Given the description of an element on the screen output the (x, y) to click on. 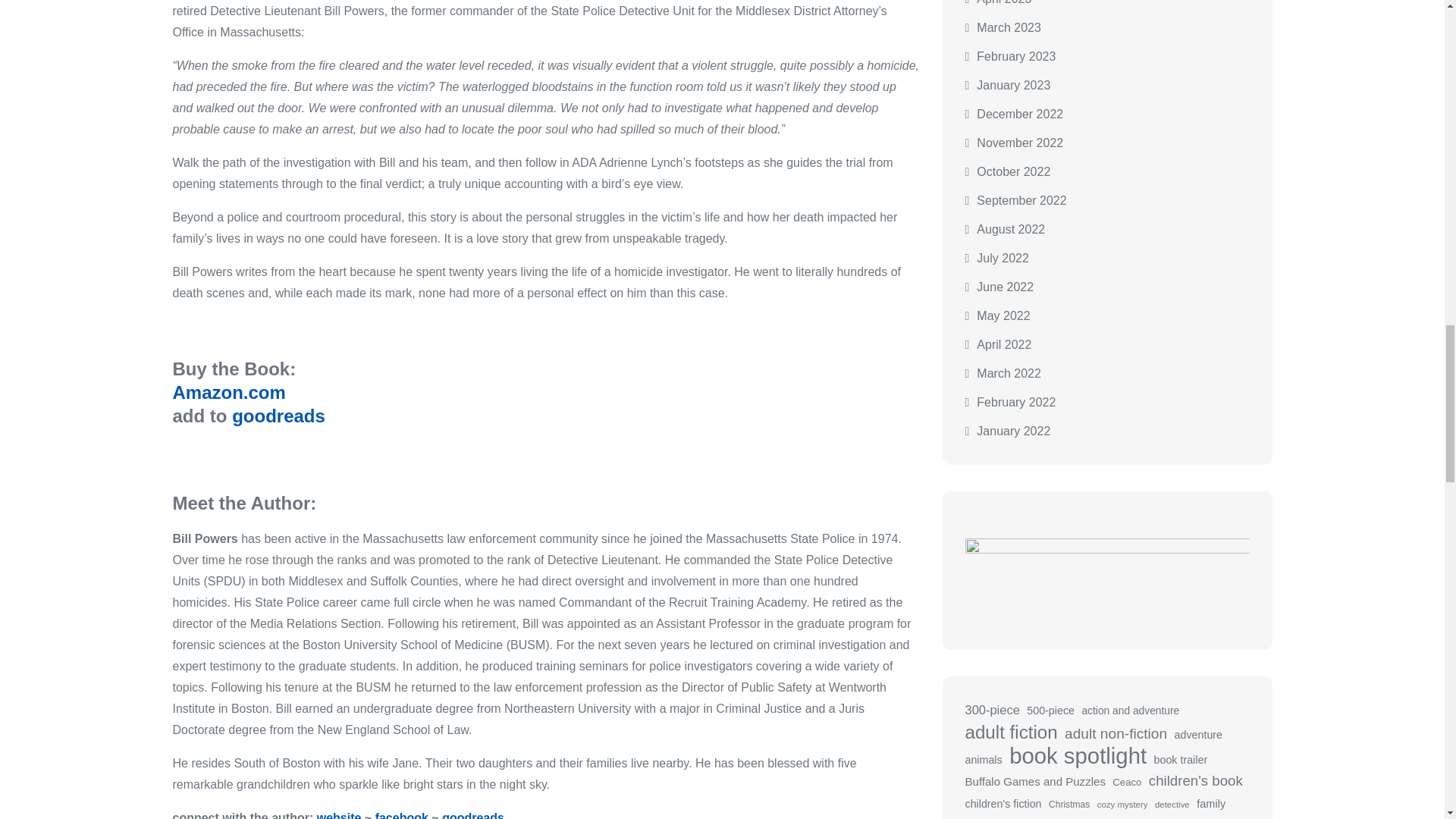
Amazon.com  (232, 403)
goodreads (472, 815)
facebook  (403, 815)
website (339, 815)
goodreads (277, 415)
